Given the description of an element on the screen output the (x, y) to click on. 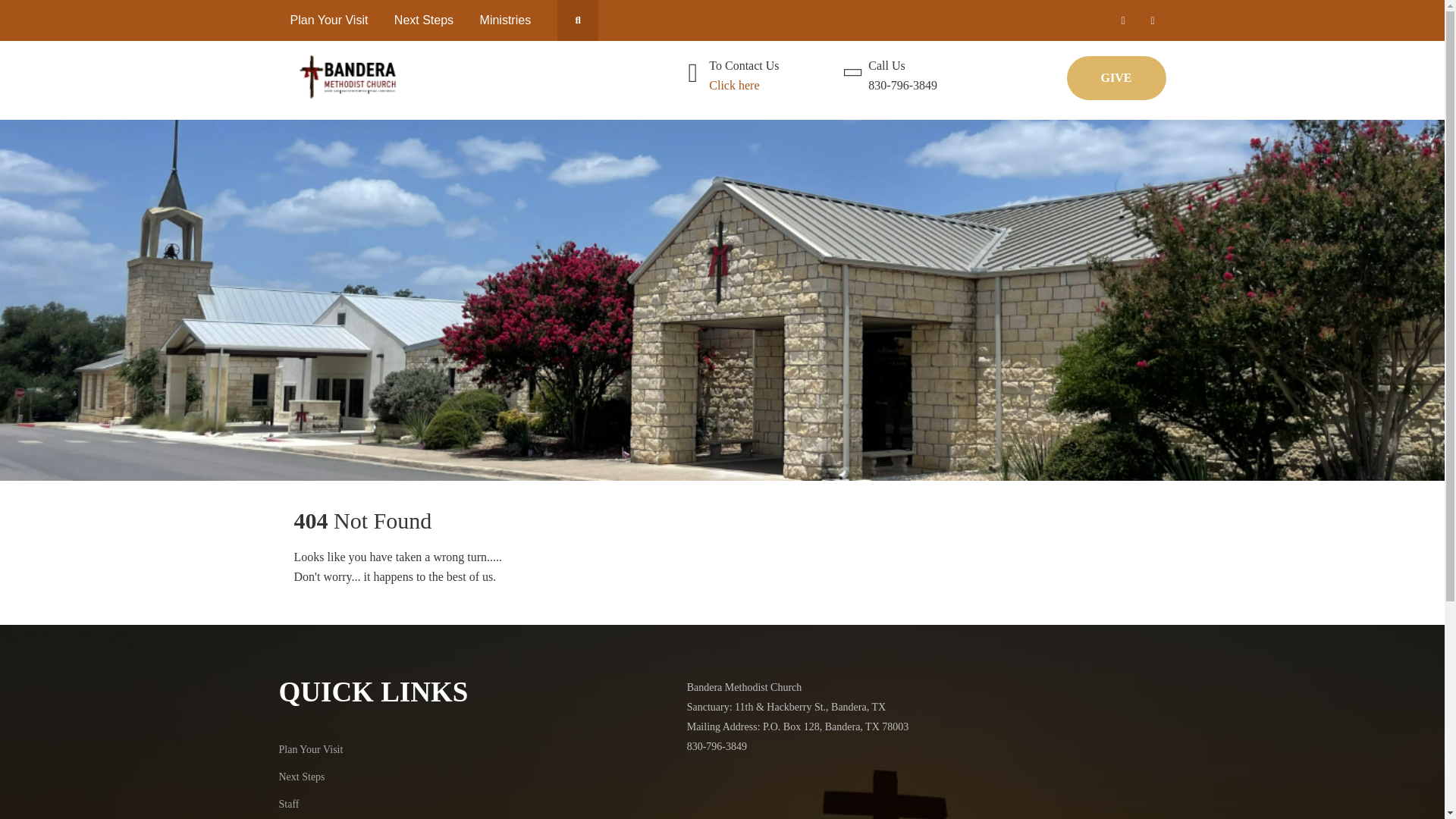
GIVE (1116, 77)
Plan Your Visit (311, 749)
Ministries (505, 20)
Next Steps (301, 777)
Next Steps (423, 20)
Plan Your Visit (329, 20)
Click here (733, 84)
Resources (301, 818)
